Given the description of an element on the screen output the (x, y) to click on. 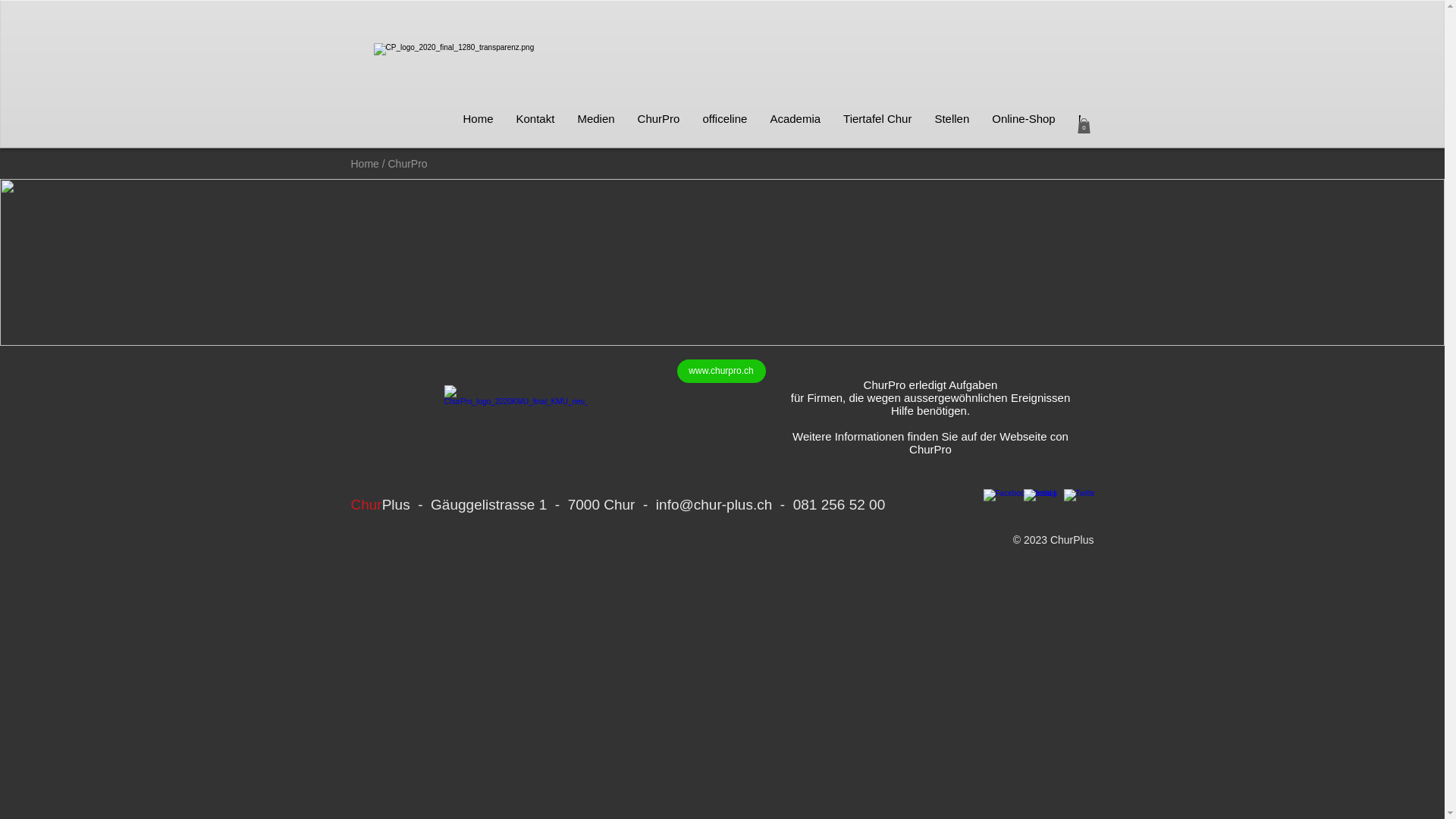
ChurPro Element type: text (658, 125)
0 Element type: text (1082, 125)
info@chur-plus.ch Element type: text (713, 504)
Stellen Element type: text (951, 125)
Home Element type: text (365, 163)
Medien Element type: text (595, 125)
officeline Element type: text (724, 125)
www.churpro.ch Element type: text (720, 370)
Online-Shop Element type: text (1023, 125)
Home Element type: text (478, 125)
Academia Element type: text (794, 125)
Kontakt Element type: text (535, 125)
Tiertafel Chur Element type: text (876, 125)
